Given the description of an element on the screen output the (x, y) to click on. 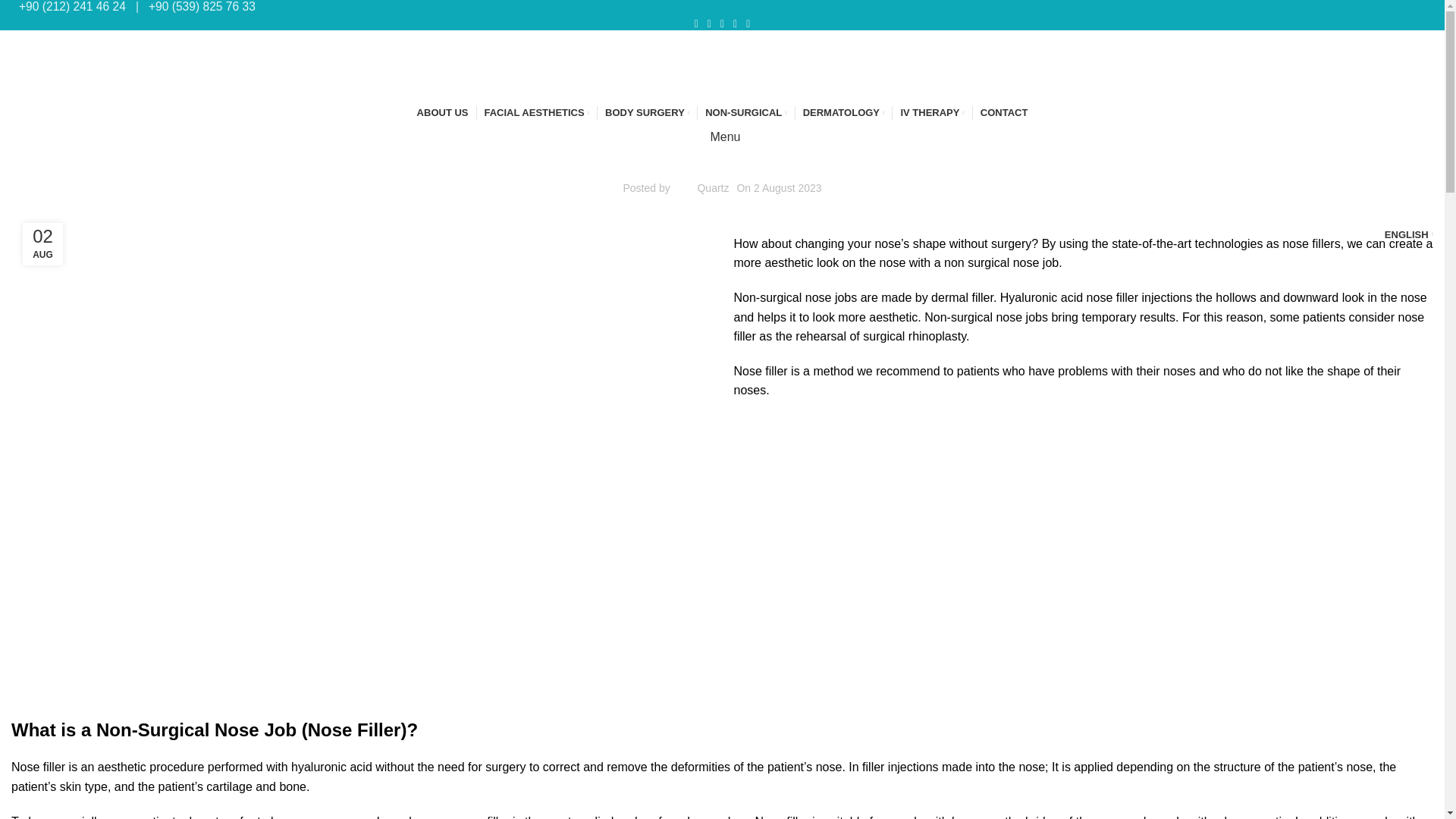
ENGLISH (43, 44)
Non Surgical Nose Job (194, 243)
FACIAL AESTHETICS (536, 112)
ABOUT US (442, 112)
